Given the description of an element on the screen output the (x, y) to click on. 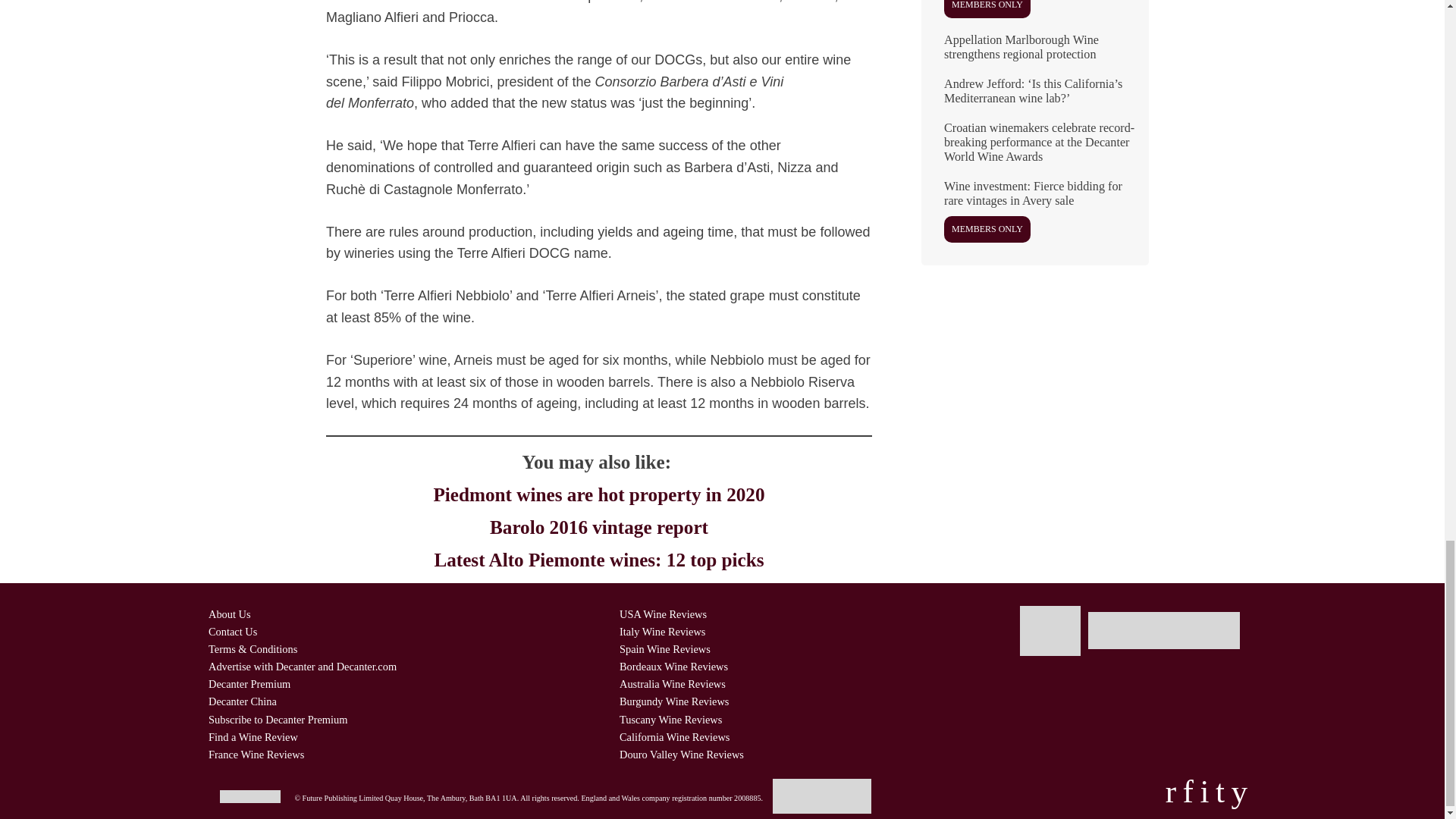
Pangaea: Putting the world in a bottle (1035, 14)
Appellation Marlborough Wine strengthens regional protection (1035, 53)
